Given the description of an element on the screen output the (x, y) to click on. 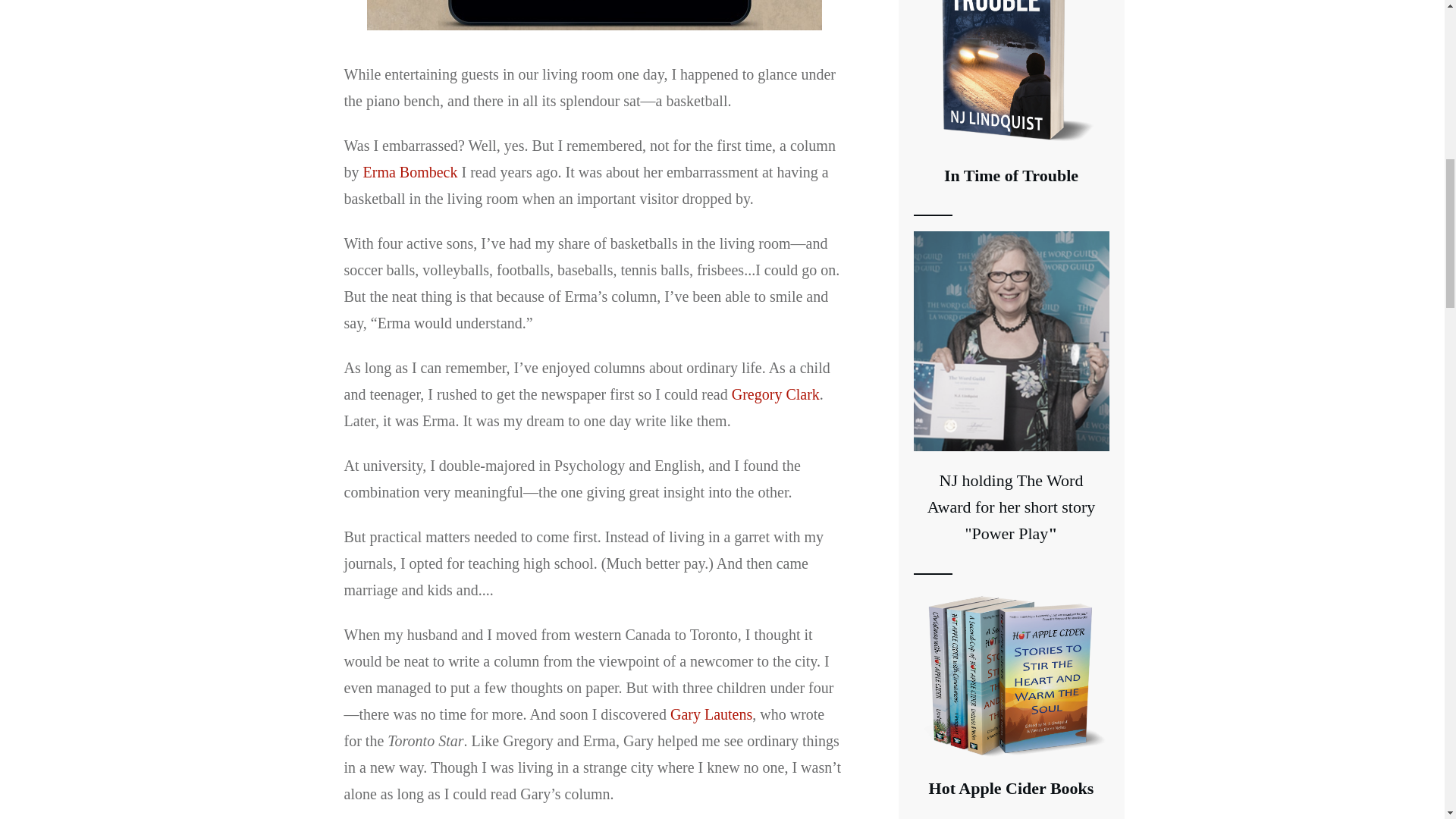
Gary Lautens (710, 713)
Gregory Clark (775, 393)
Erma Bombeck (409, 171)
BasketballsNJL600 (594, 15)
